Given the description of an element on the screen output the (x, y) to click on. 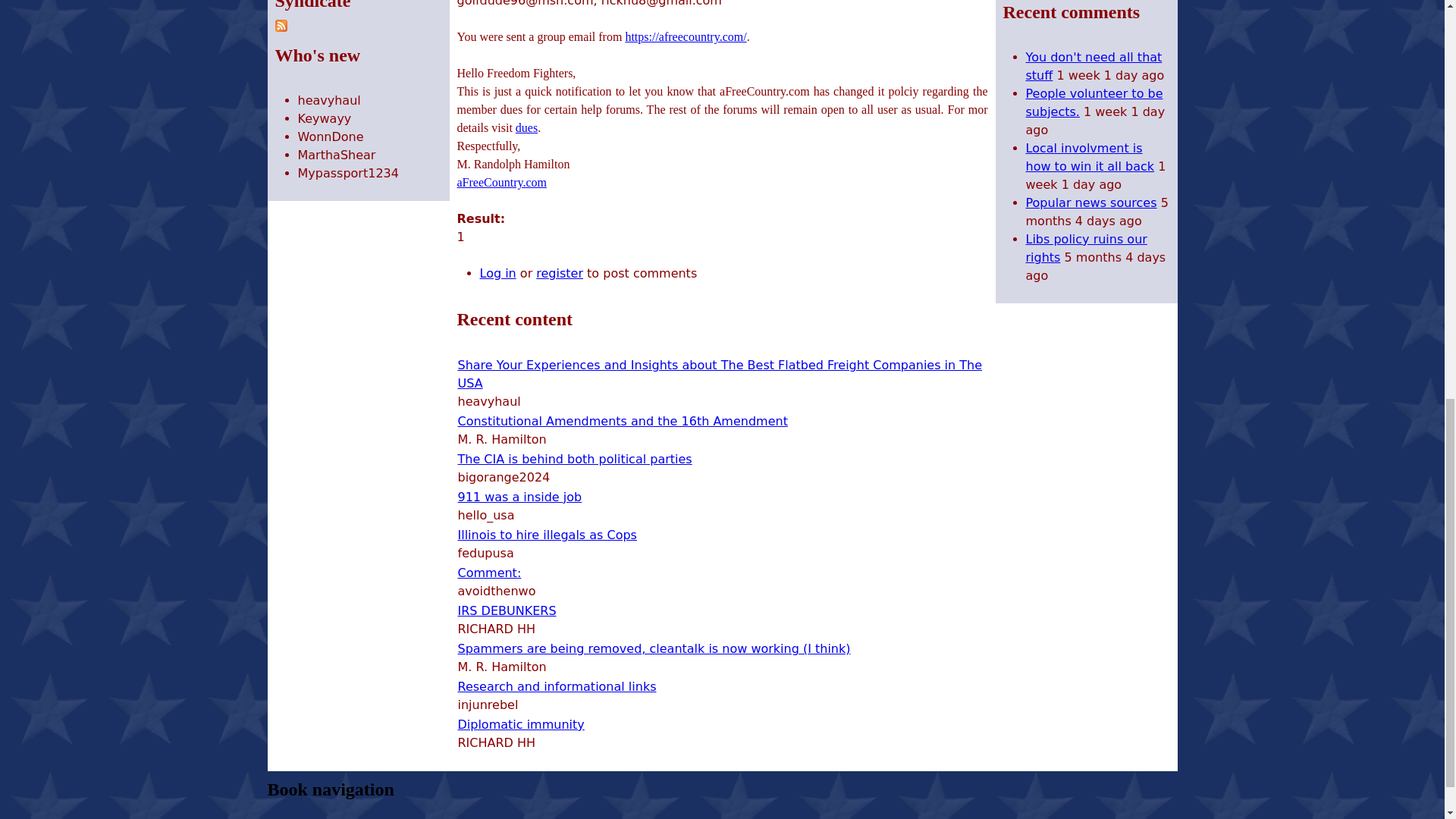
The CIA is behind both political parties (575, 459)
Illinois to hire illegals as Cops (547, 534)
Log in (497, 273)
Constitutional Amendments and the 16th Amendment (622, 421)
911 was a inside job (520, 496)
Diplomatic immunity (521, 724)
register (559, 273)
Research and informational links (557, 686)
aFreeCountry.com (501, 182)
Comment: (489, 572)
dues (526, 127)
IRS DEBUNKERS (507, 610)
